Given the description of an element on the screen output the (x, y) to click on. 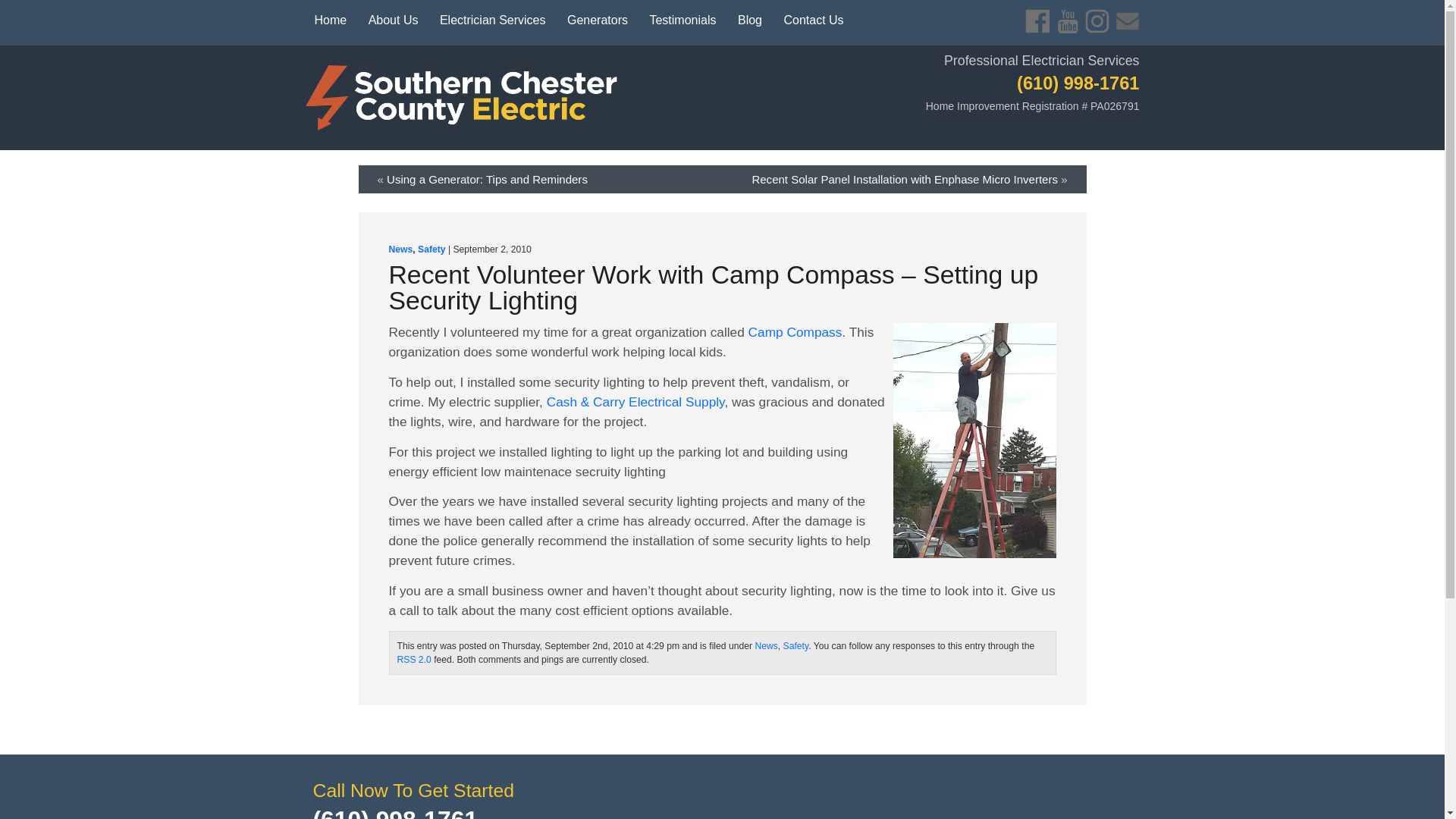
Safety (796, 645)
Blog (750, 19)
Camp Compass (795, 331)
Using a Generator: Tips and Reminders (487, 178)
Recent Solar Panel Installation with Enphase Micro Inverters (904, 178)
Home (329, 19)
About Us (393, 19)
Contact Us (1126, 21)
News (765, 645)
Generators (597, 19)
